Given the description of an element on the screen output the (x, y) to click on. 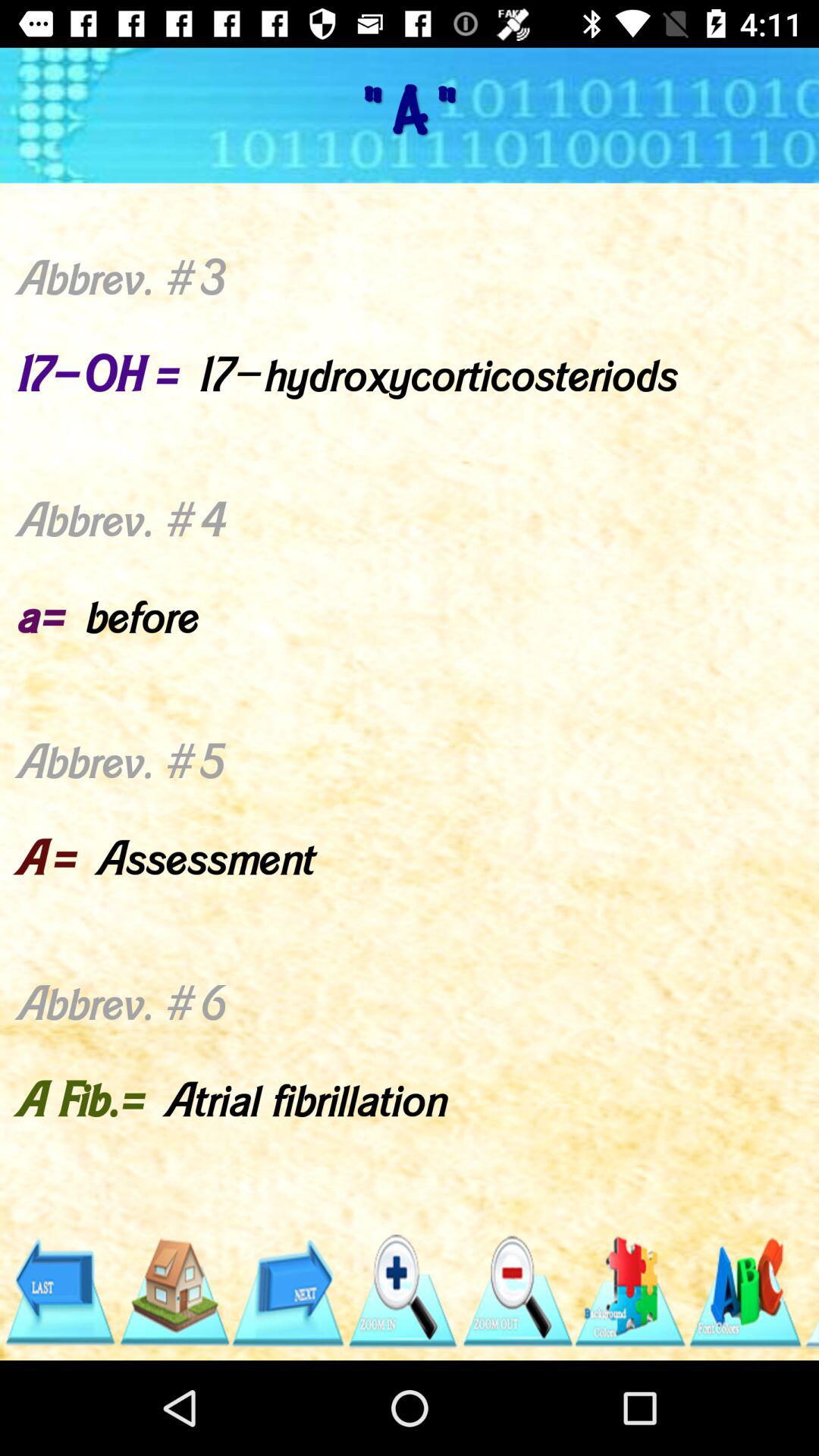
tap item below abbrev 	1	 	 item (516, 1291)
